Given the description of an element on the screen output the (x, y) to click on. 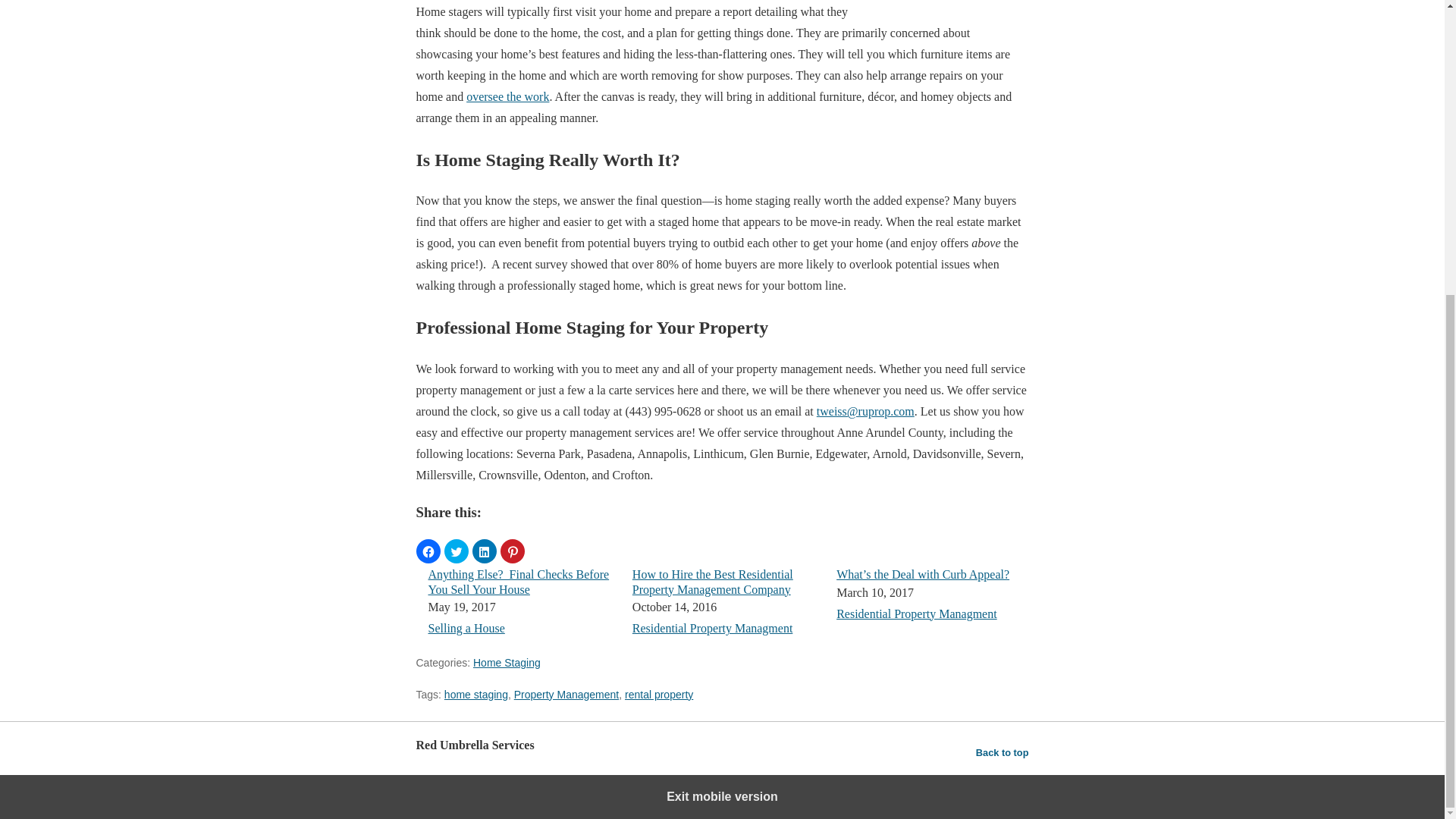
rental property (658, 694)
Click to share on LinkedIn (483, 550)
Click to share on Twitter (456, 550)
Click to share on Pinterest (512, 550)
How to Hire the Best Residential Property Management Company (712, 581)
Residential Property Managment (916, 613)
oversee the work (506, 96)
Residential Property Managment (712, 627)
Selling a House (465, 627)
Property Management (566, 694)
